Given the description of an element on the screen output the (x, y) to click on. 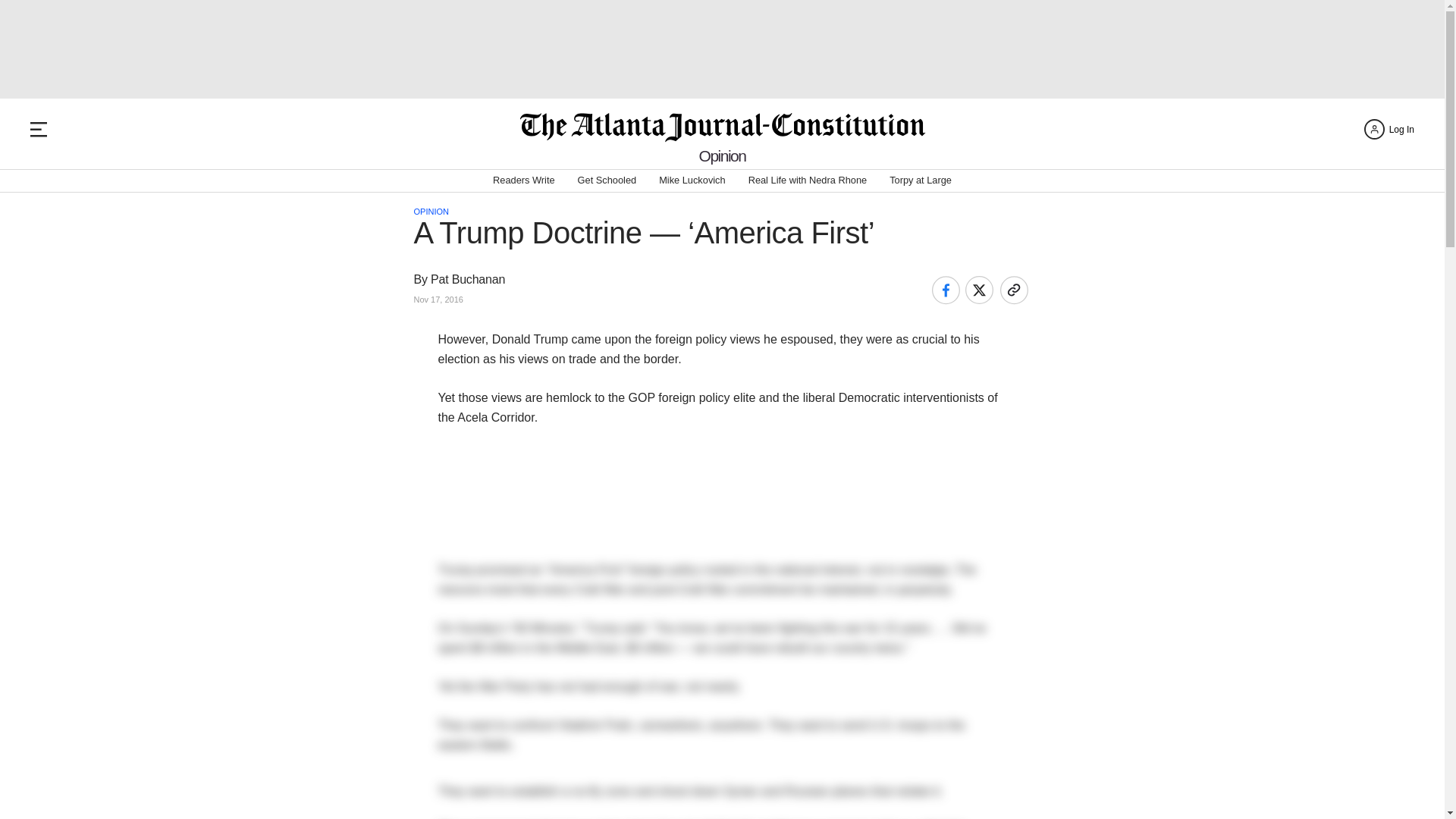
Readers Write (523, 180)
Opinion (721, 155)
Torpy at Large (920, 180)
Get Schooled (607, 180)
Real Life with Nedra Rhone (807, 180)
Mike Luckovich (692, 180)
